Given the description of an element on the screen output the (x, y) to click on. 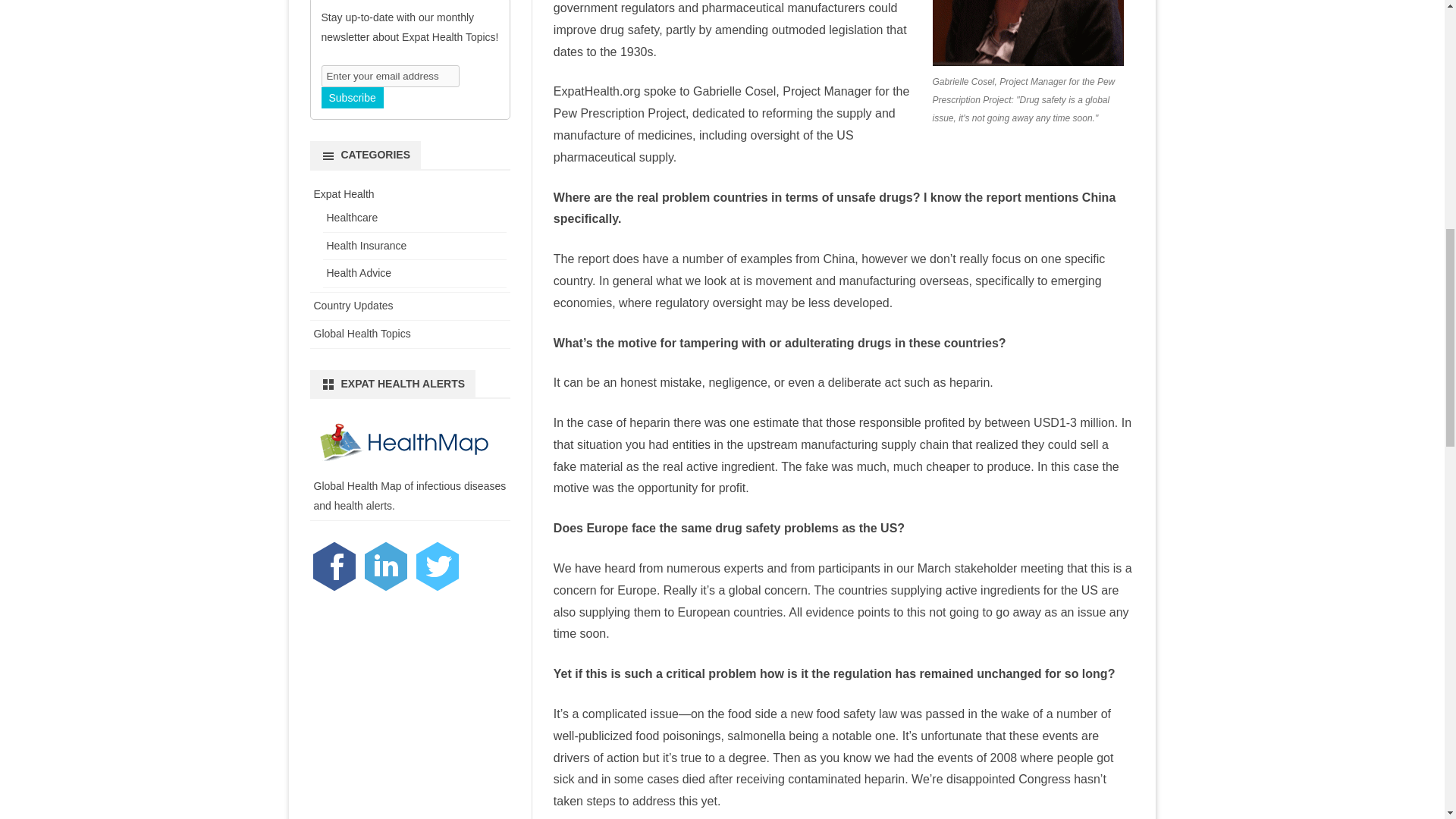
Enter your email address (390, 75)
Subscribe (352, 97)
Gabrielle Cosel (1028, 33)
